Given the description of an element on the screen output the (x, y) to click on. 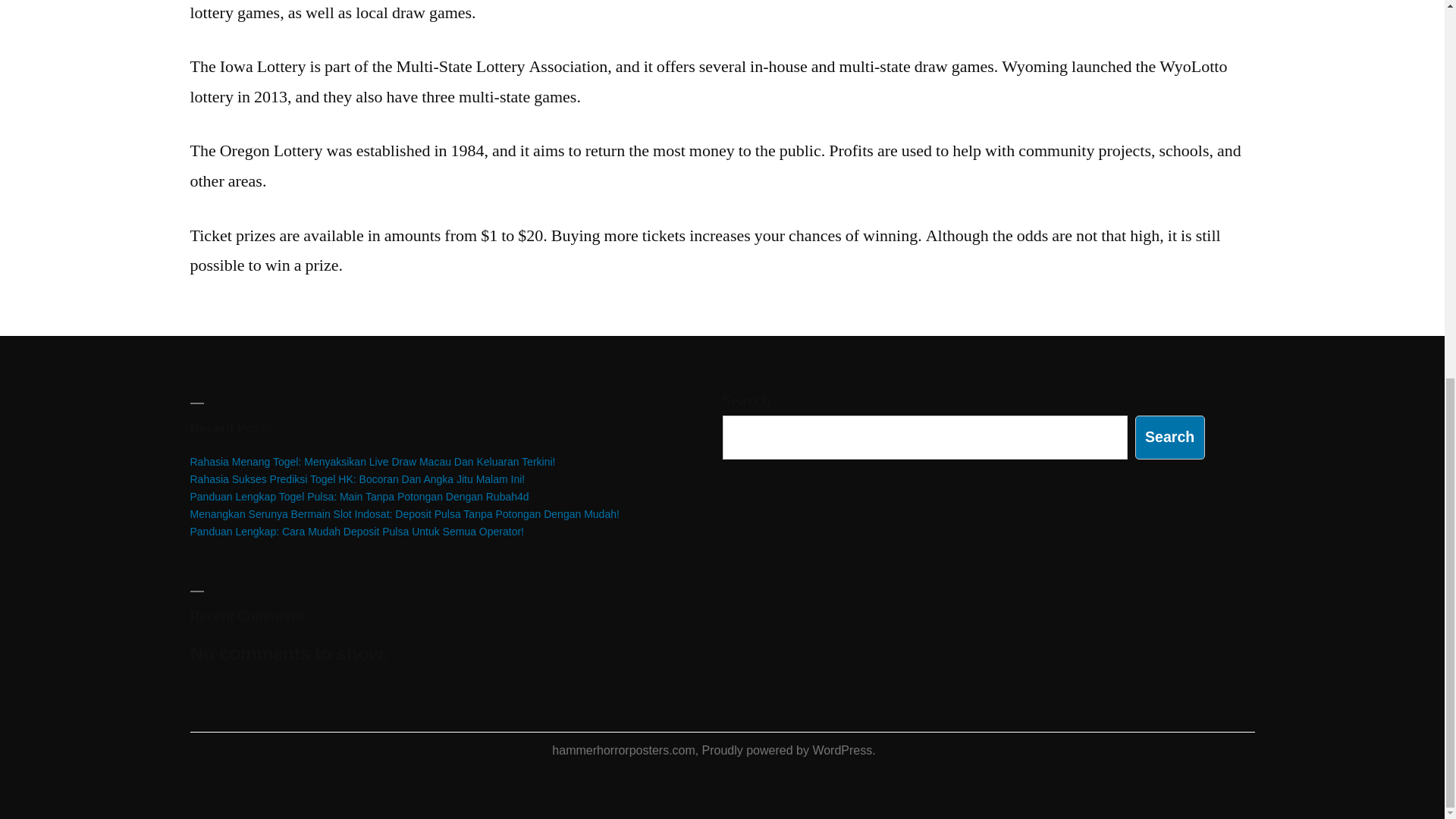
hammerhorrorposters.com (623, 749)
Proudly powered by WordPress. (788, 749)
Search (1170, 436)
